Given the description of an element on the screen output the (x, y) to click on. 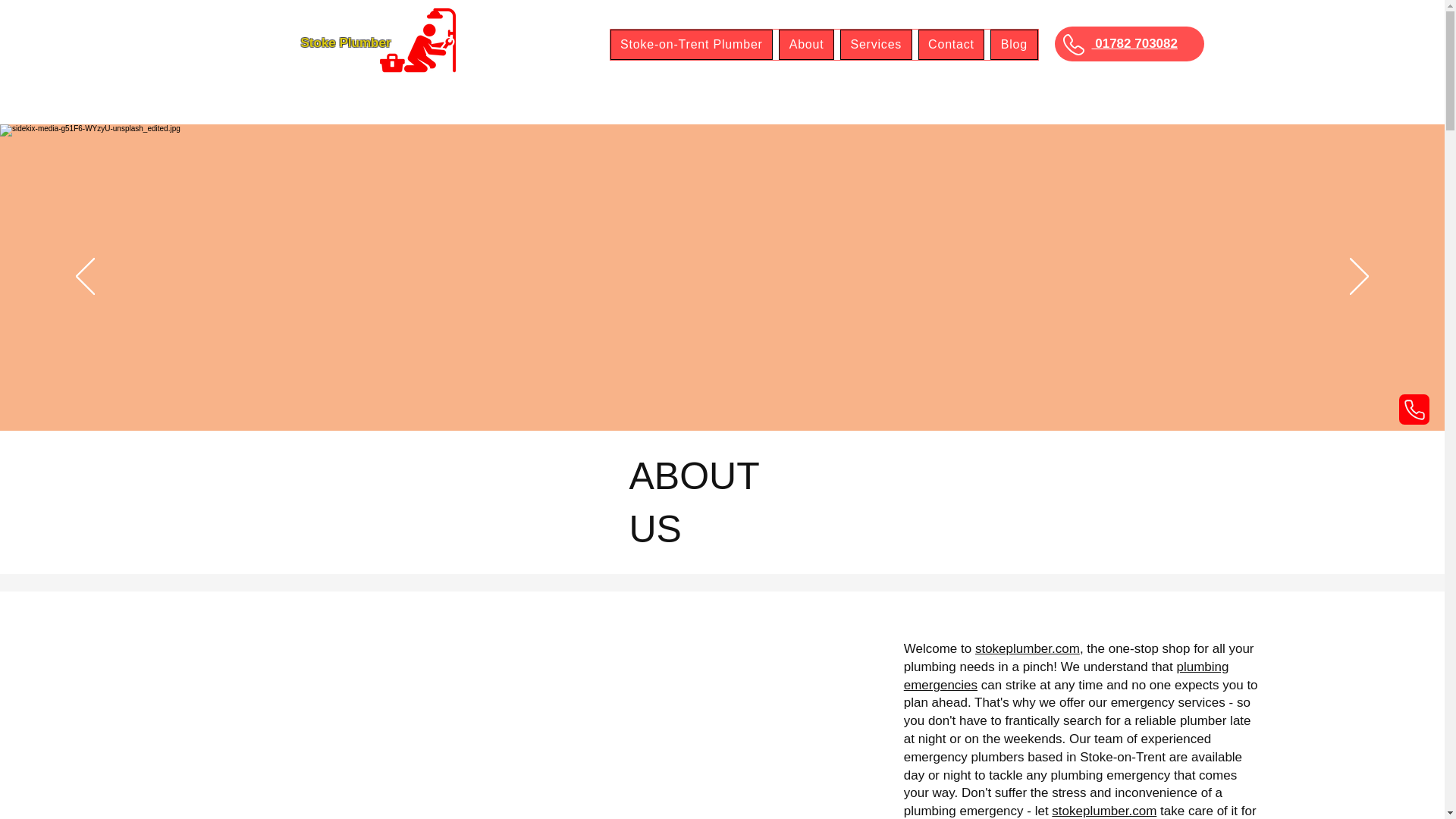
stokeplumber.com (1027, 648)
 01782 703082 (1134, 43)
Stoke-on-Trent Plumber (691, 44)
stokeplumber.com (1103, 810)
Blog (1013, 44)
plumbing emergencies (1066, 676)
About (806, 44)
Services (876, 44)
Contact (951, 44)
